Given the description of an element on the screen output the (x, y) to click on. 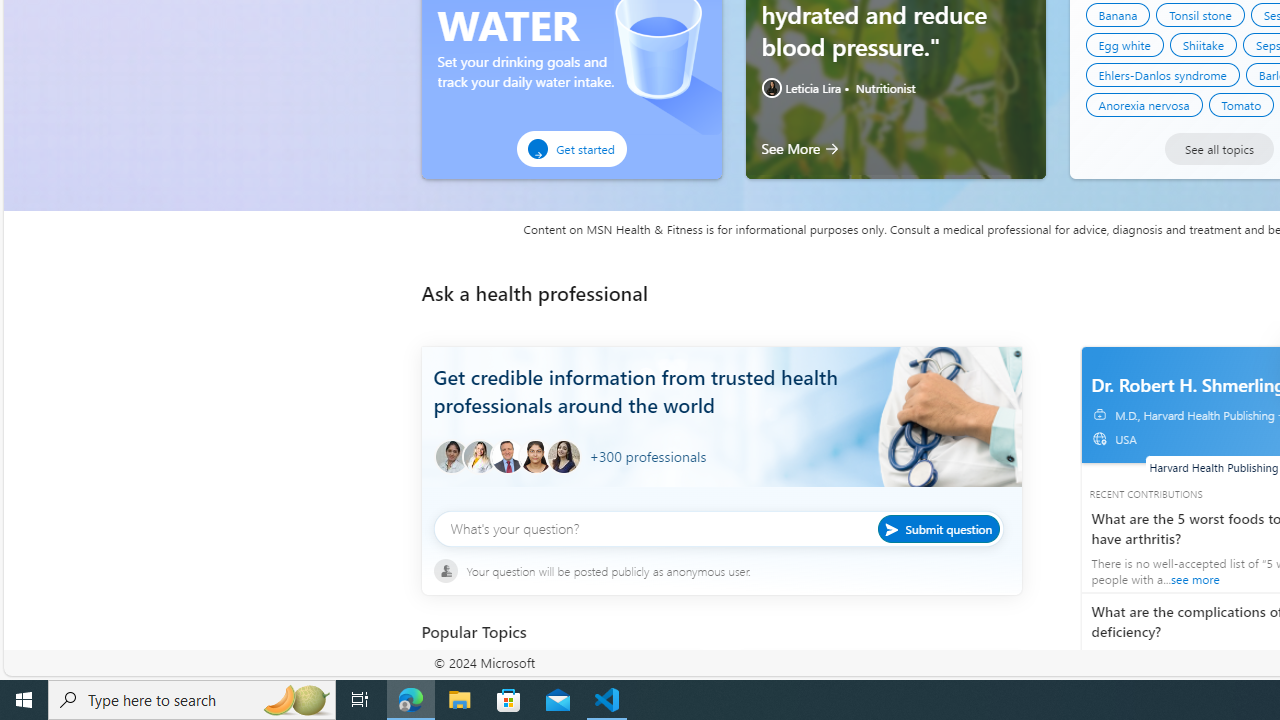
Class: vecIn (1103, 443)
Pictorial representation of Stroke Stroke Condition (562, 682)
Anorexia nervosa (1144, 104)
Banana (1117, 14)
Pictorial representation of Gout Gout Condition (879, 682)
Class: askQuestionButtonArrowIcon (895, 528)
Ehlers-Danlos syndrome (1162, 75)
Egg white (1124, 44)
Class: svgRectangle (721, 540)
Class: health-tip-image (771, 87)
